Given the description of an element on the screen output the (x, y) to click on. 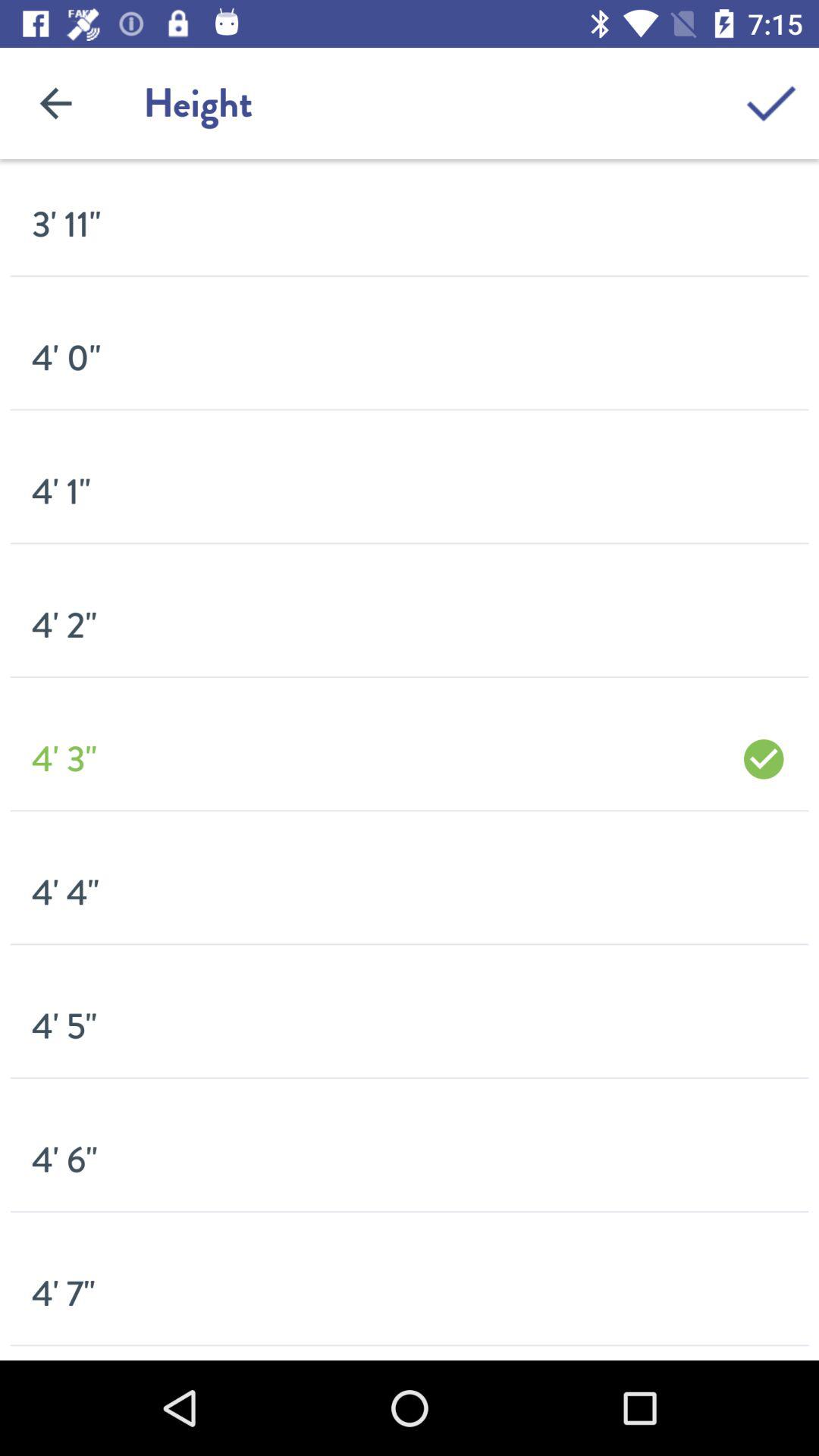
choose the item at the top right corner (771, 103)
